Given the description of an element on the screen output the (x, y) to click on. 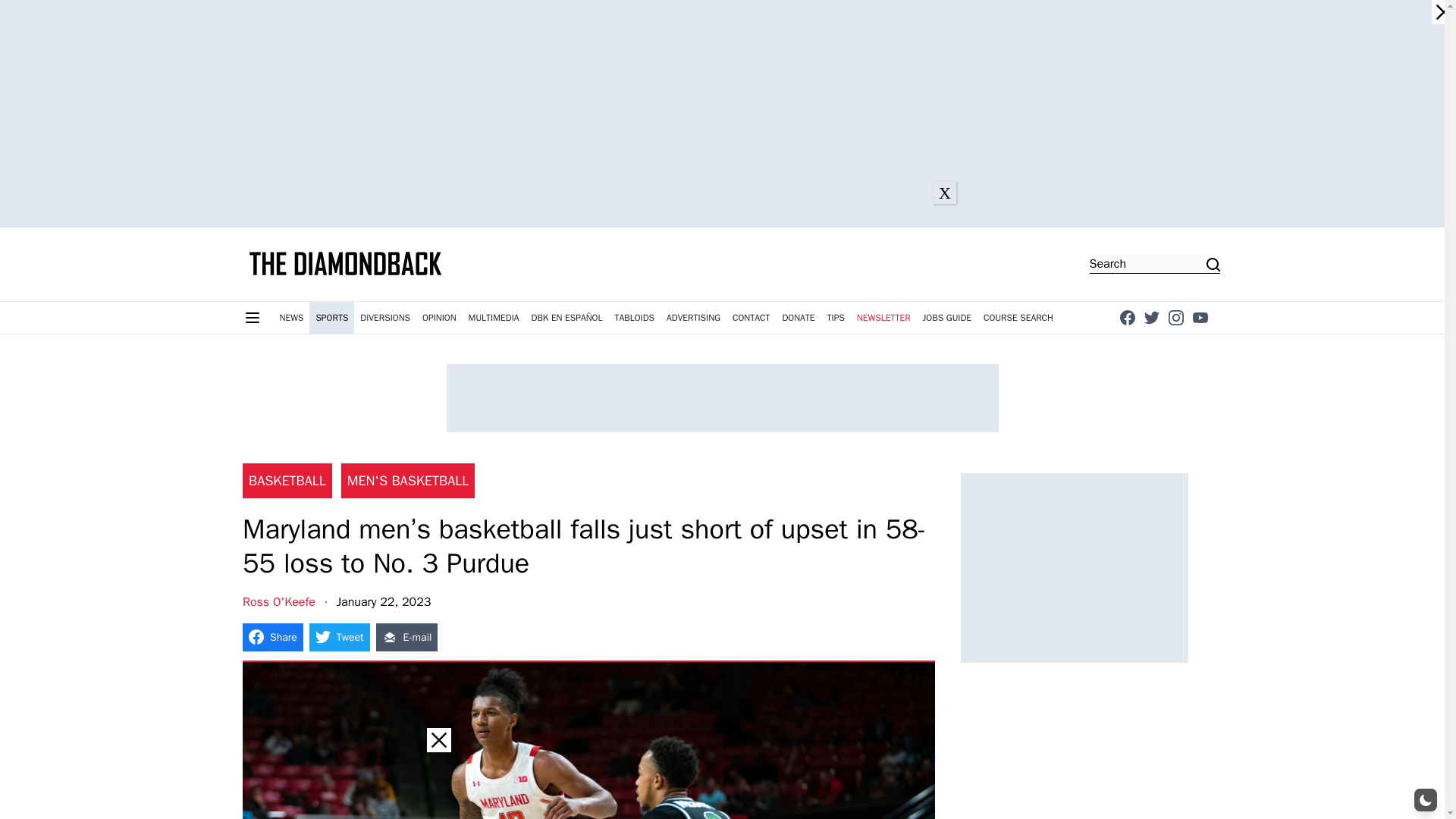
Contact (751, 317)
Course Search (1017, 317)
Opinion (439, 317)
Sports (330, 317)
News (290, 317)
NEWS (290, 317)
ADVERTISING (693, 317)
COURSE SEARCH (1017, 317)
DONATE (798, 317)
JOBS GUIDE (947, 317)
MULTIMEDIA (494, 317)
The Diamondback on Facebook (1126, 317)
DIVERSIONS (384, 317)
Donate (798, 317)
